Given the description of an element on the screen output the (x, y) to click on. 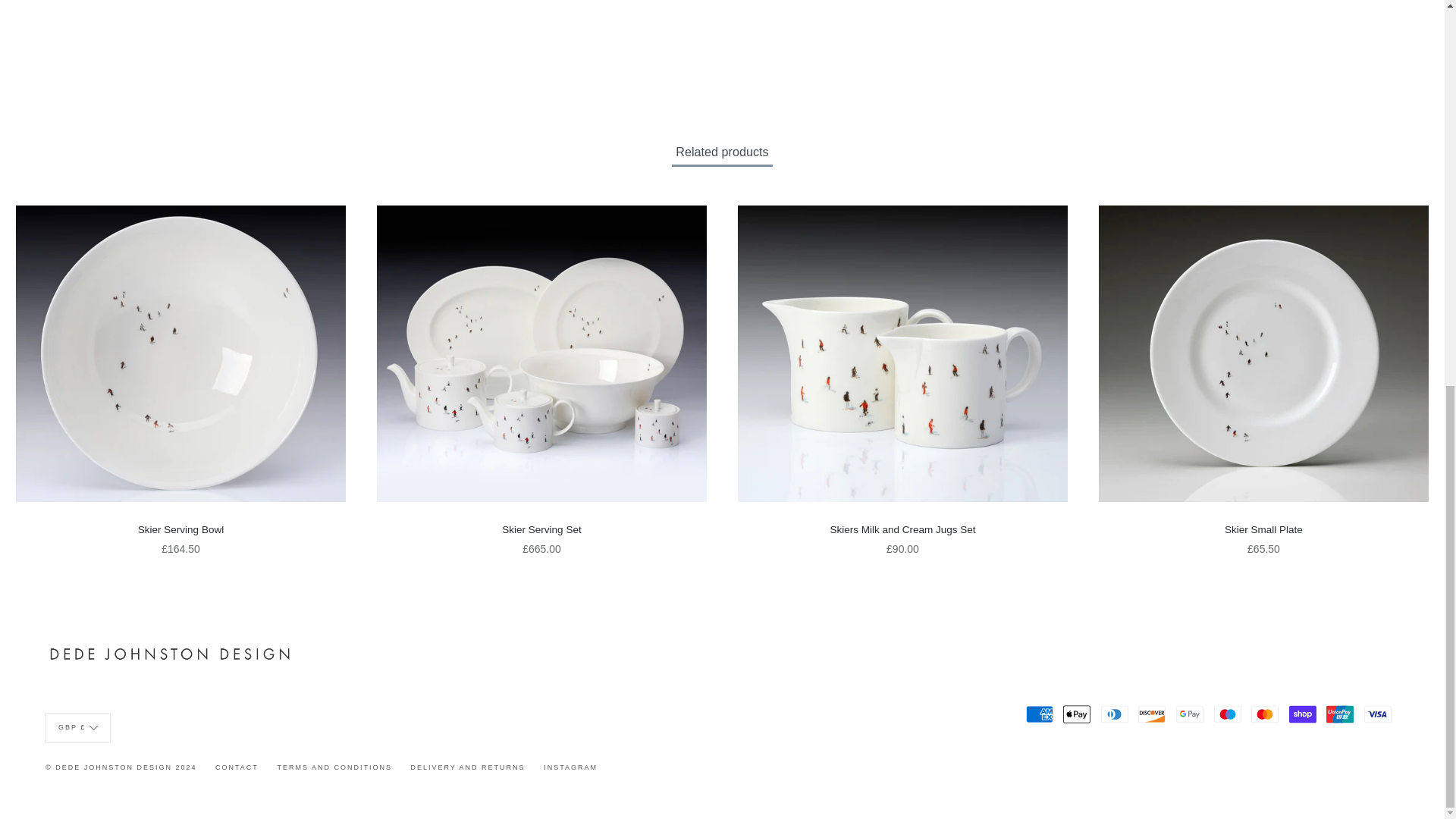
American Express (1038, 714)
Apple Pay (1076, 714)
Union Pay (1340, 714)
Maestro (1227, 714)
Google Pay (1190, 714)
Diners Club (1114, 714)
Shop Pay (1302, 714)
Discover (1152, 714)
Mastercard (1264, 714)
Visa (1377, 714)
